Given the description of an element on the screen output the (x, y) to click on. 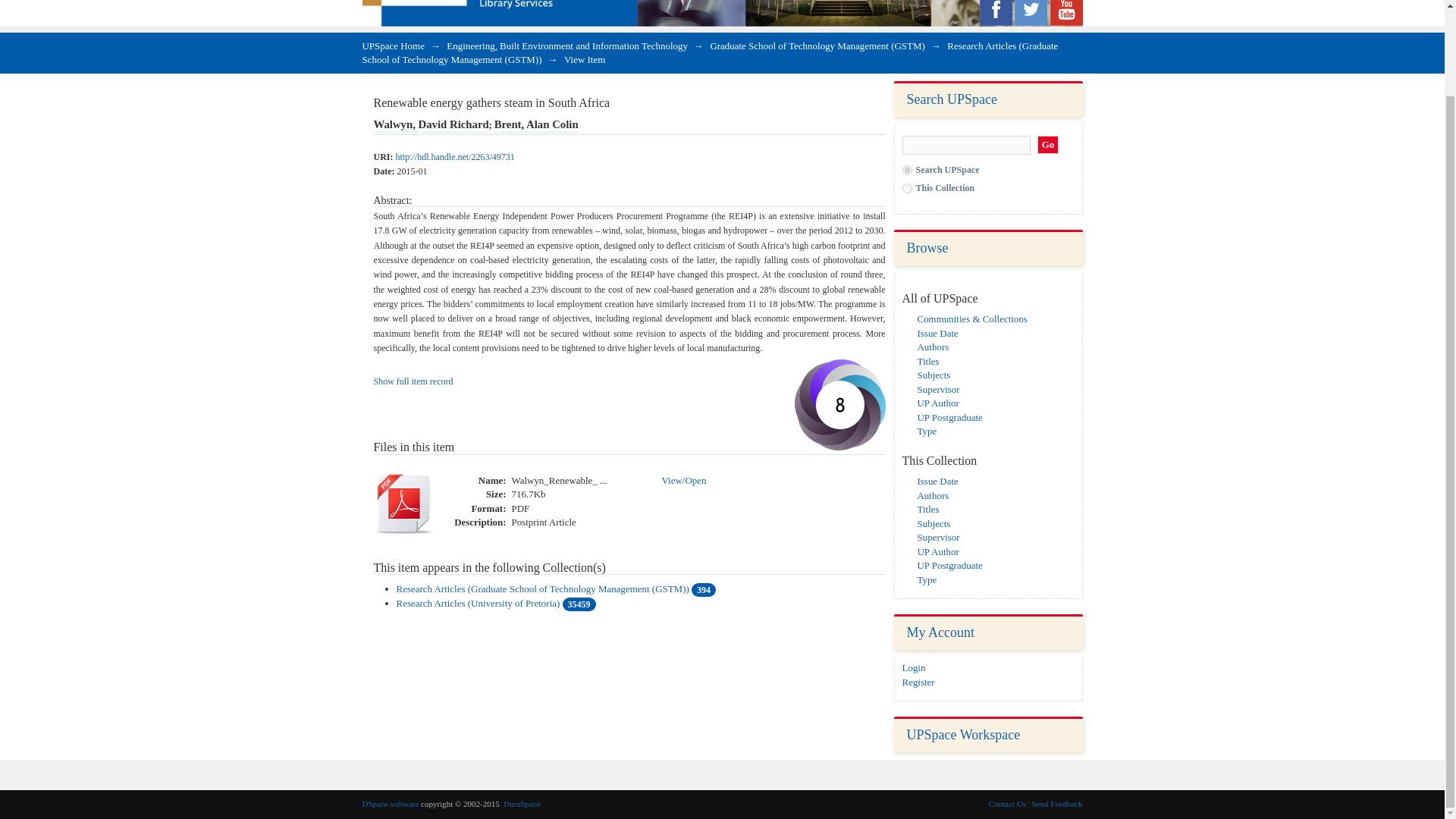
UP Postgraduate (949, 564)
Titles (928, 509)
Issue Date (937, 333)
UPSpace Home (393, 45)
Authors (933, 346)
DuraSpace (521, 803)
Go (1047, 144)
UP Author (938, 402)
Postprint Article (543, 522)
Login (914, 667)
Type (927, 430)
UP Postgraduate (949, 417)
Supervisor (938, 389)
Issue Date (937, 480)
Authors (933, 495)
